Given the description of an element on the screen output the (x, y) to click on. 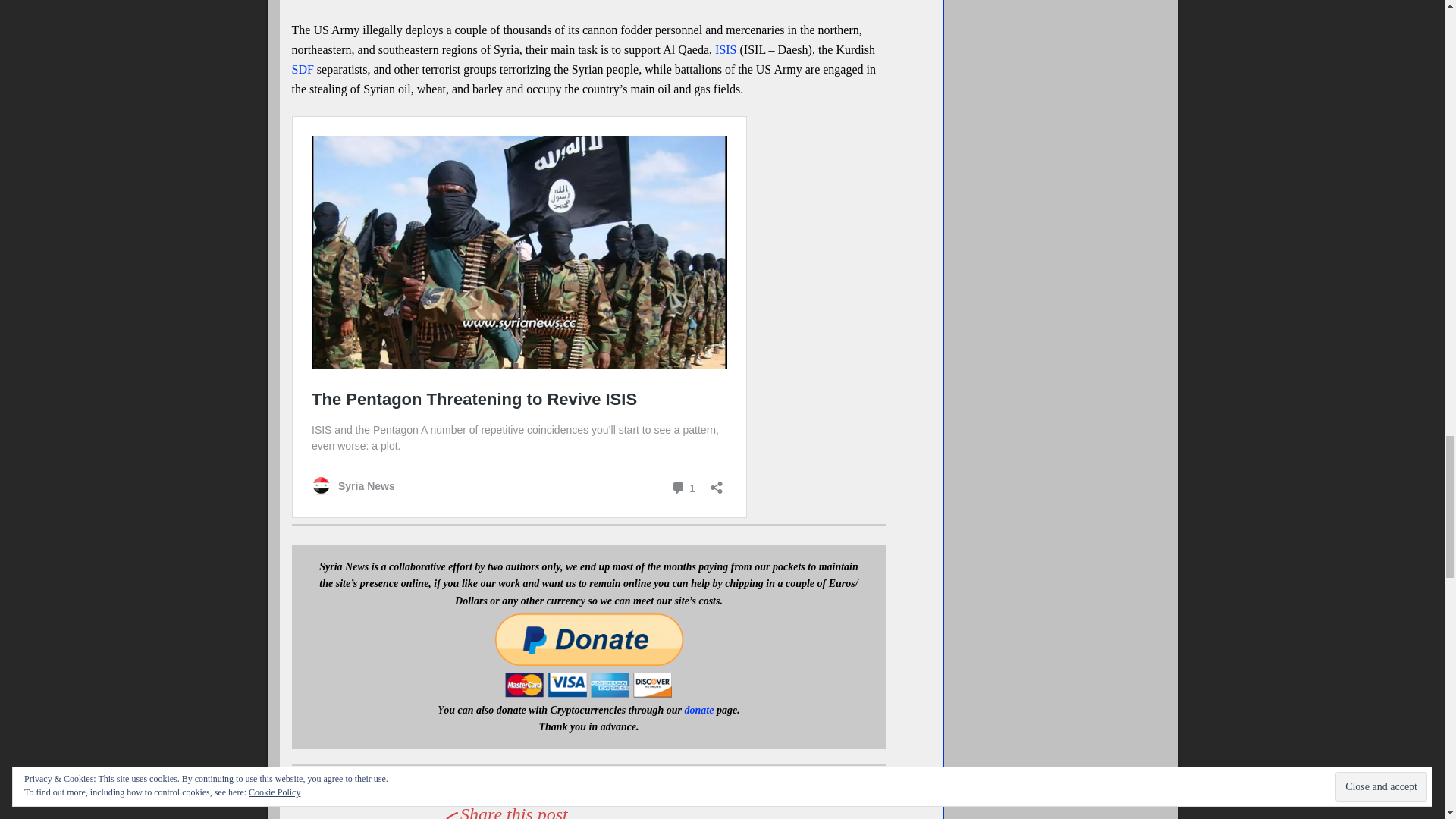
ISIS (725, 49)
donate (699, 709)
SDF (302, 69)
A US-sponsored separatist Kurdish militia. (302, 69)
